Given the description of an element on the screen output the (x, y) to click on. 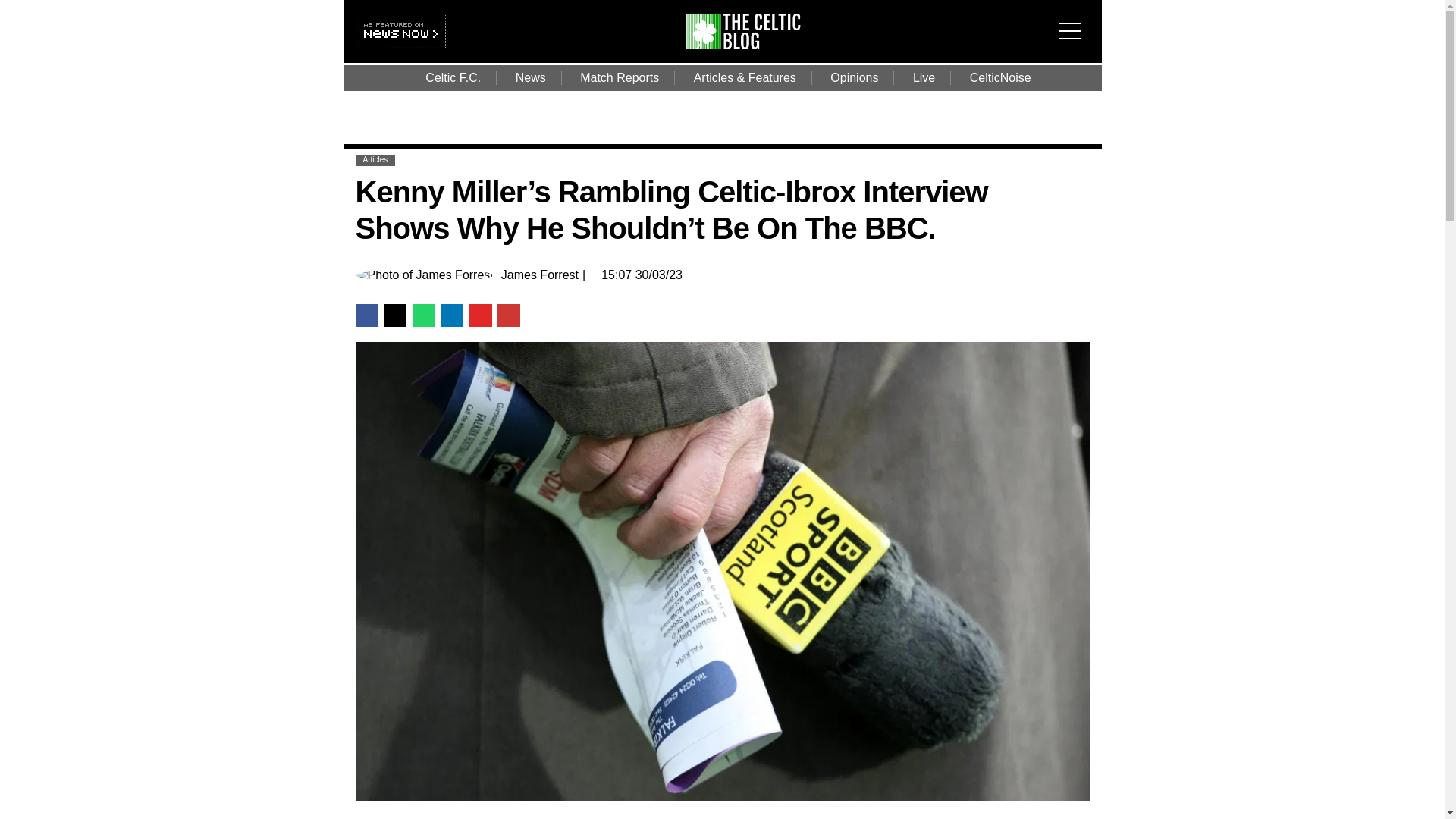
Articles (374, 159)
James Forrest (539, 274)
share on Flipboard (480, 314)
Match Reports (619, 78)
share on Email (508, 314)
Live (924, 78)
share on Twitter (395, 314)
CelticNoise (1000, 78)
share on LinkedIn (452, 314)
share on WhatsApp (423, 314)
